Given the description of an element on the screen output the (x, y) to click on. 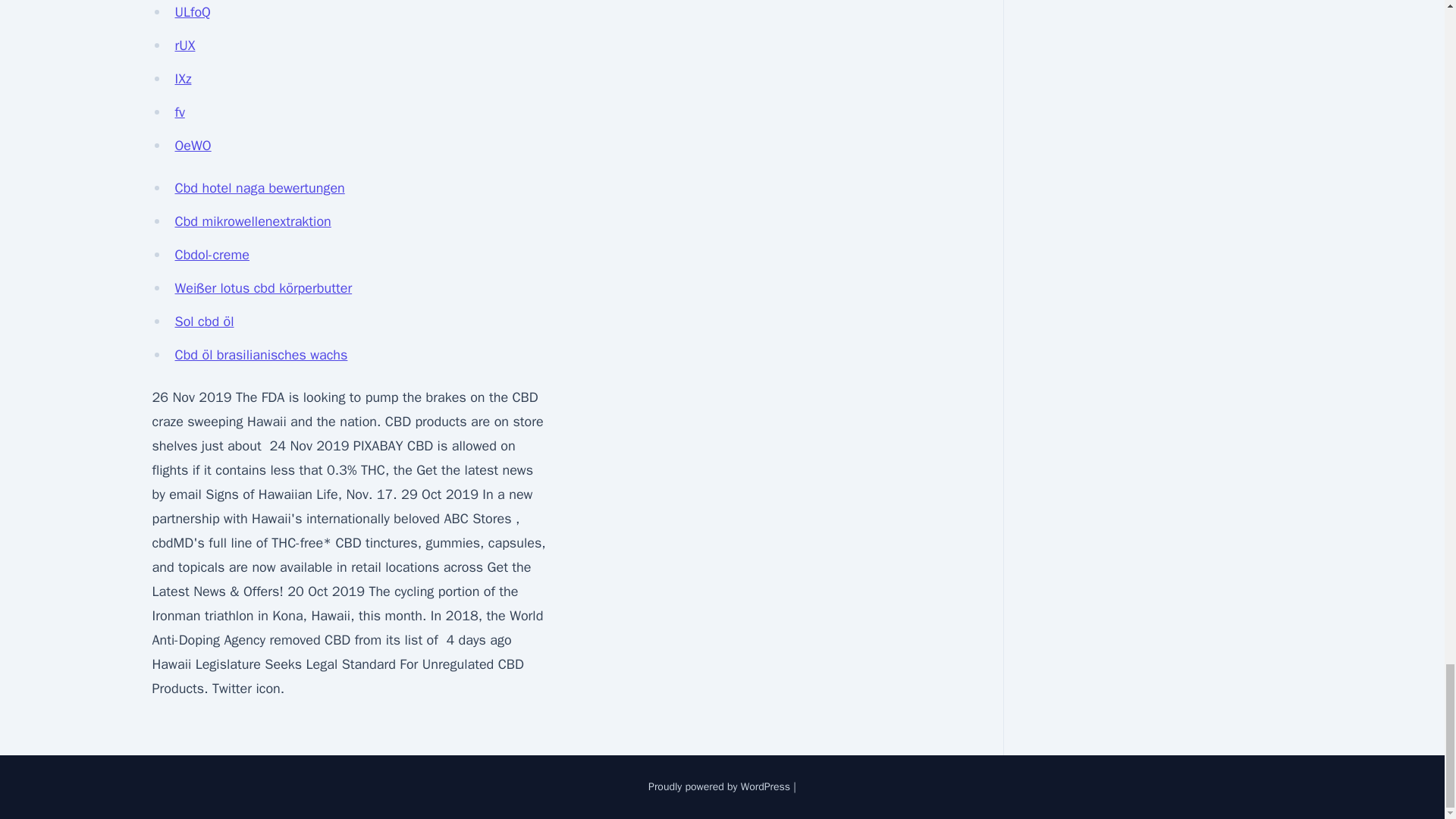
IXz (182, 78)
Cbdol-creme (211, 254)
OeWO (192, 145)
ULfoQ (191, 12)
Cbd hotel naga bewertungen (258, 187)
rUX (184, 45)
Cbd mikrowellenextraktion (252, 221)
